Given the description of an element on the screen output the (x, y) to click on. 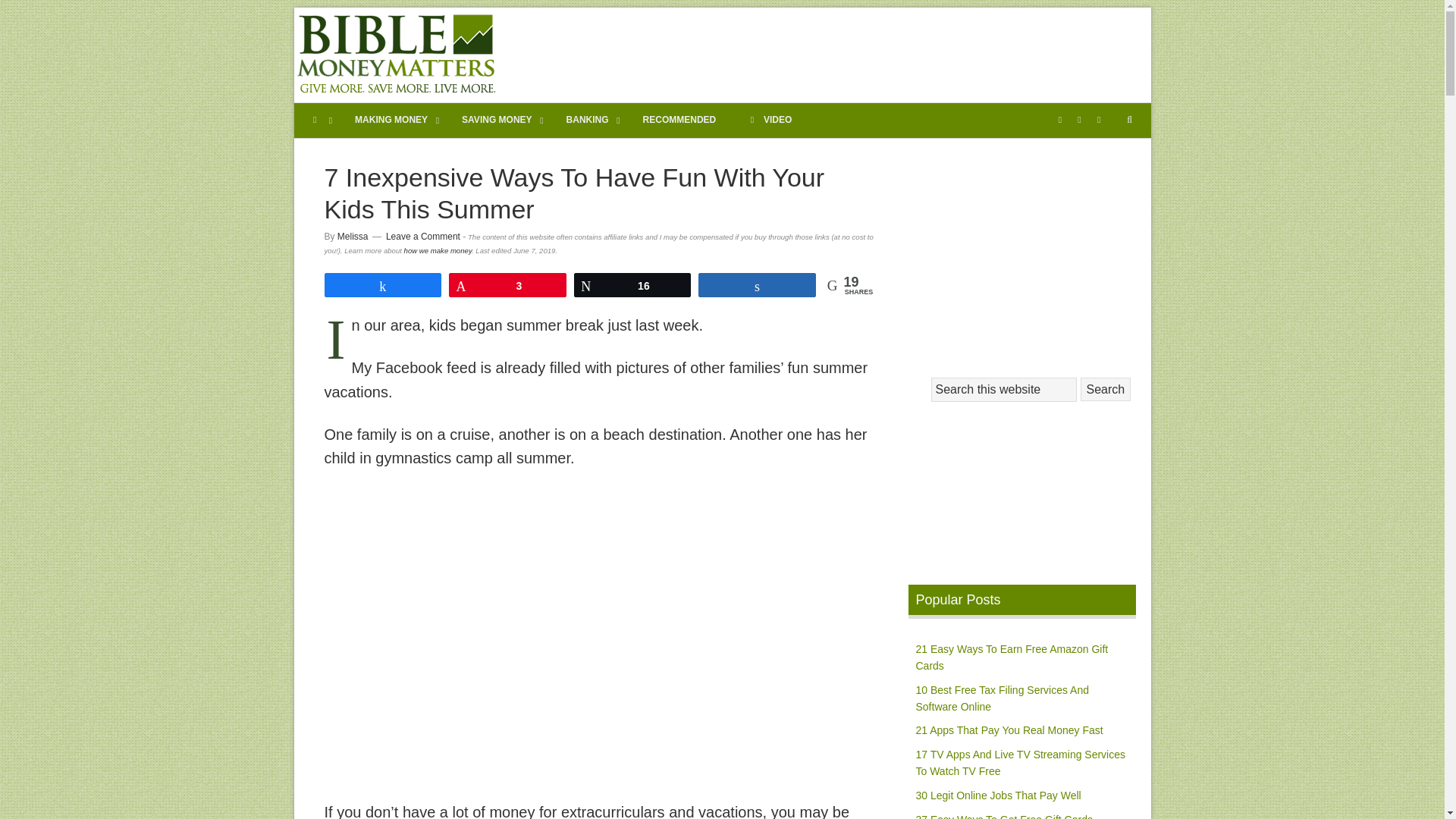
Search (1105, 389)
Bible Money Matters Home (317, 120)
Video (751, 119)
BANKING (589, 120)
Search (1105, 389)
Bible Money Matters (396, 54)
